Given the description of an element on the screen output the (x, y) to click on. 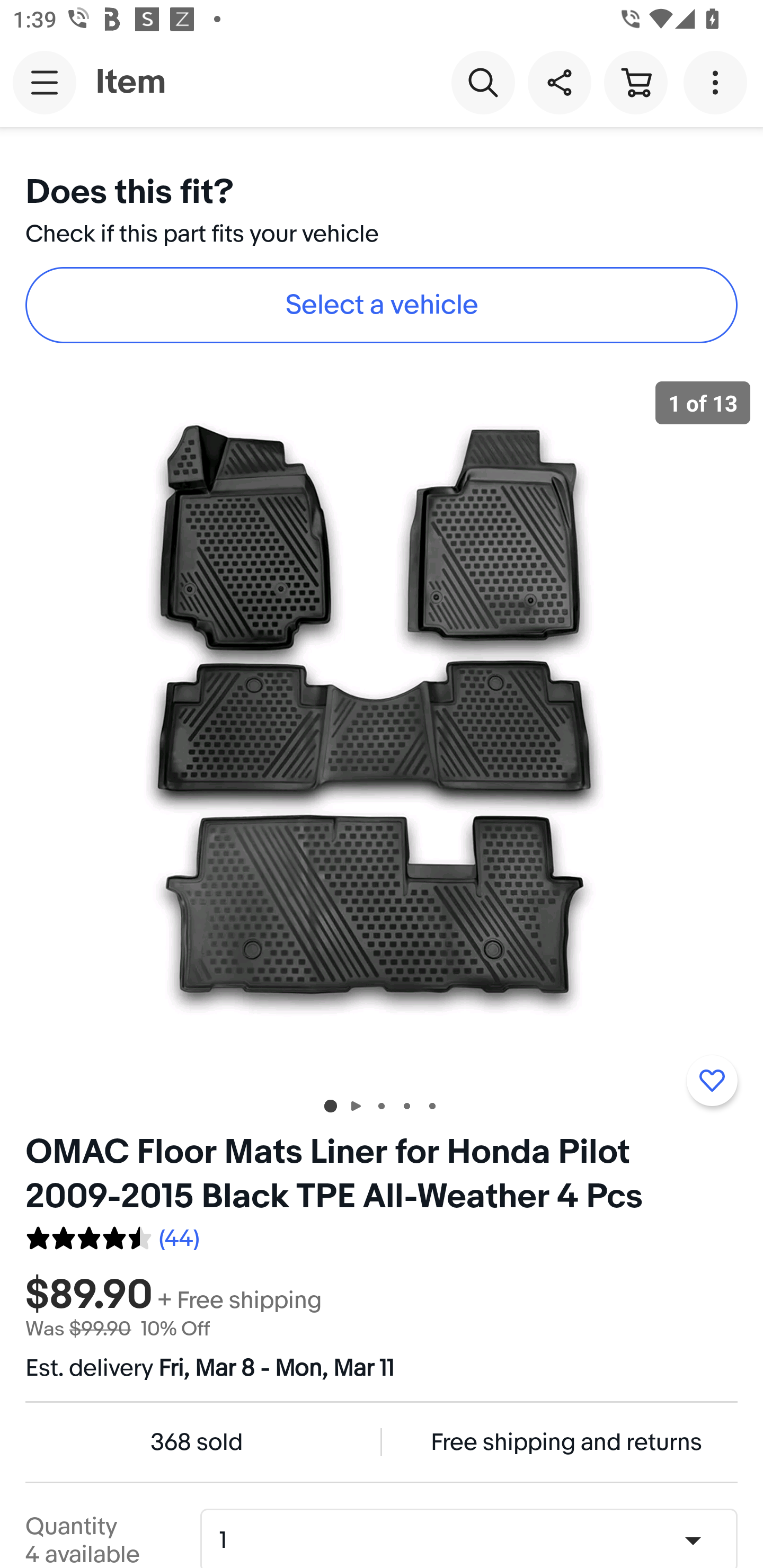
Main navigation, open (44, 82)
Search (482, 81)
Share this item (559, 81)
Cart button shopping cart (635, 81)
More options (718, 81)
Select a vehicle (381, 304)
Item image 1 of 13 (381, 724)
Add to watchlist (711, 1080)
Quantity,1,4 available 1 (474, 1540)
